Given the description of an element on the screen output the (x, y) to click on. 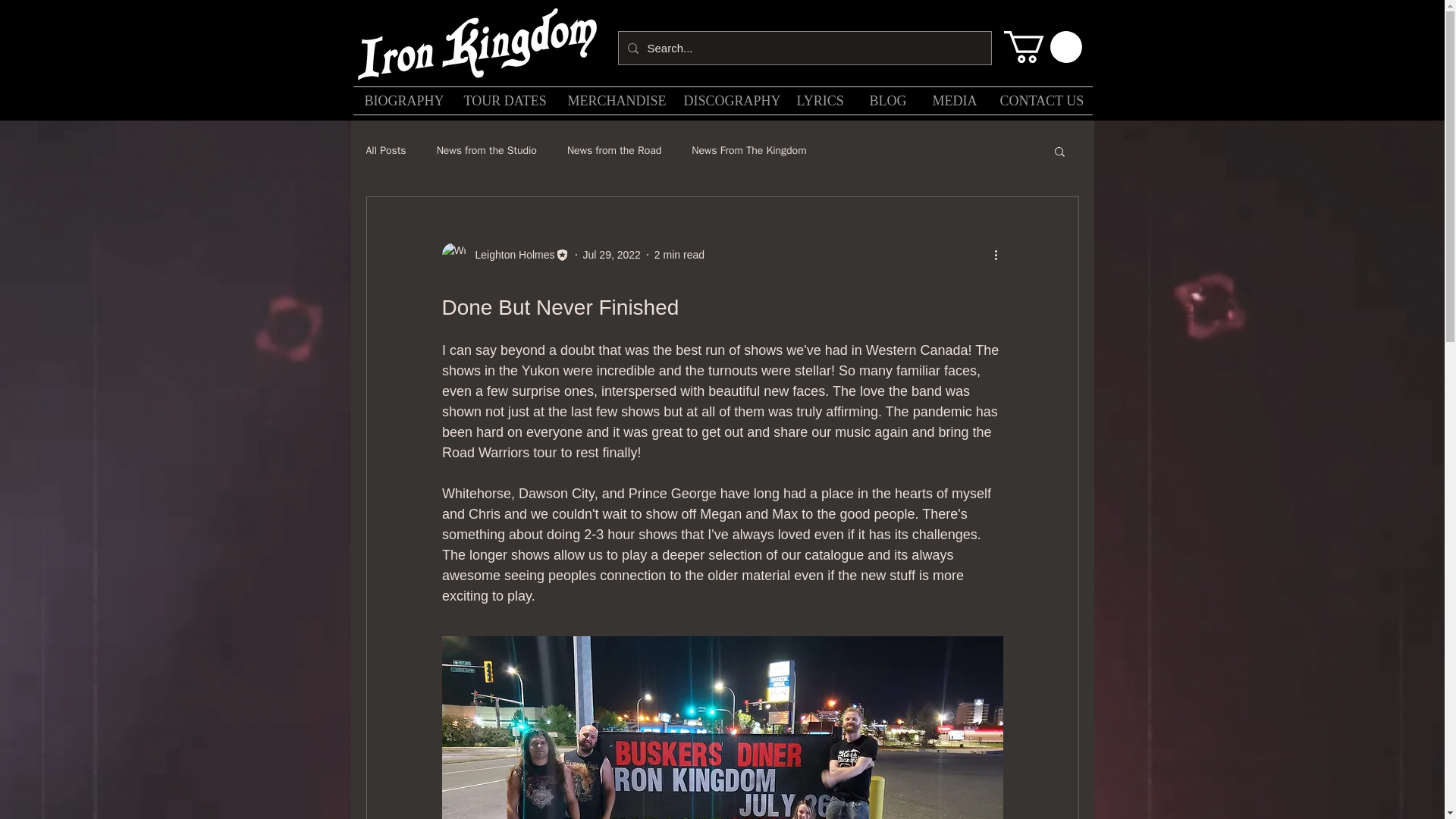
Leighton Holmes (505, 254)
2 min read (678, 254)
News from the Road (614, 151)
BIOGRAPHY (402, 100)
Jul 29, 2022 (611, 254)
News from the Studio (486, 151)
LYRICS (821, 100)
TOUR DATES (503, 100)
MERCHANDISE (614, 100)
News From The Kingdom (748, 151)
